Given the description of an element on the screen output the (x, y) to click on. 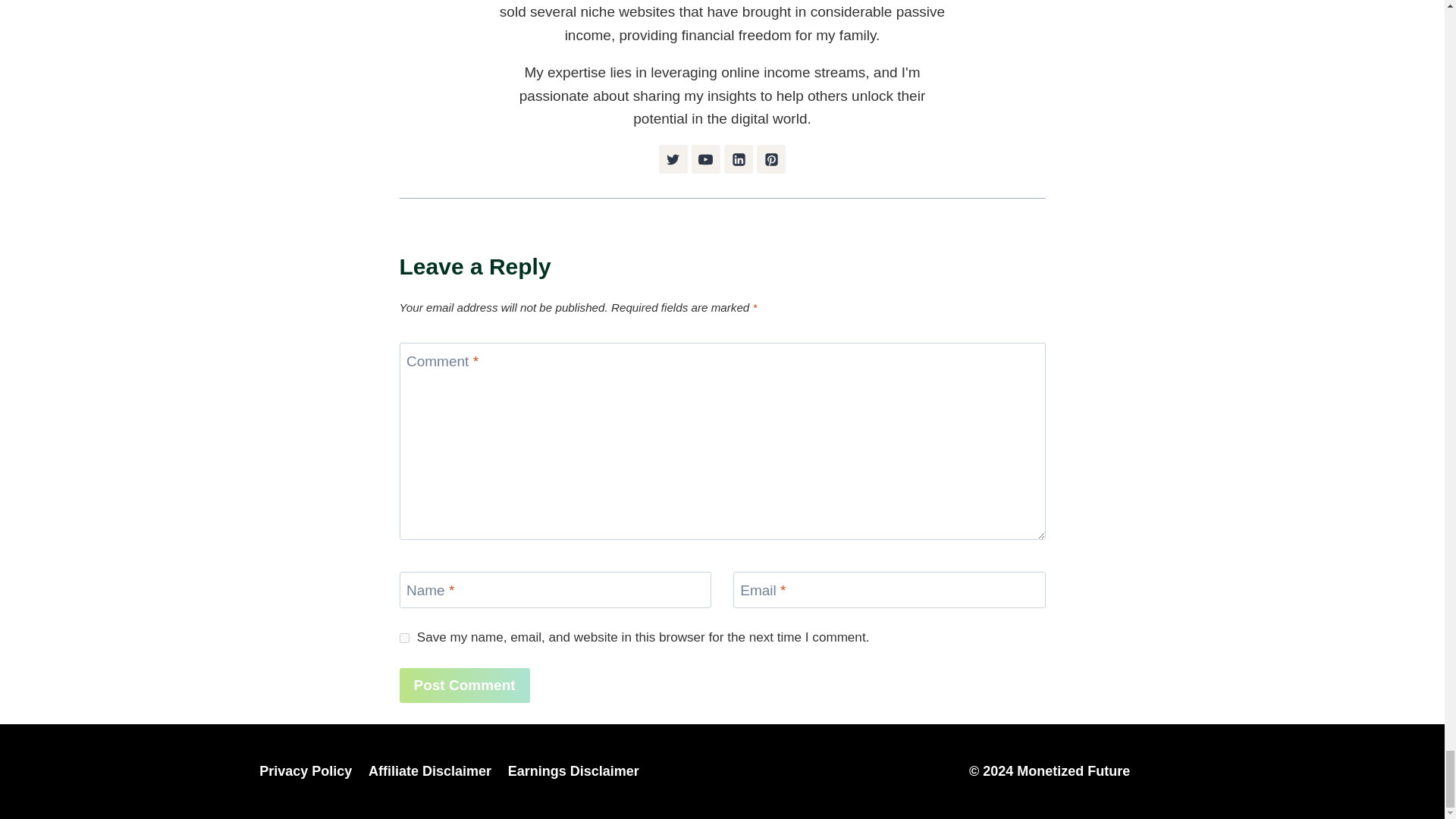
Affiliate Disclaimer (429, 771)
yes (403, 637)
Post Comment (463, 685)
Earnings Disclaimer (573, 771)
Privacy Policy (306, 771)
Follow James Lee on Youtube (705, 158)
Follow James Lee on Twitter (673, 158)
Follow James Lee on Linkedin (737, 158)
Post Comment (463, 685)
Follow James Lee on Pinterest (771, 158)
